Given the description of an element on the screen output the (x, y) to click on. 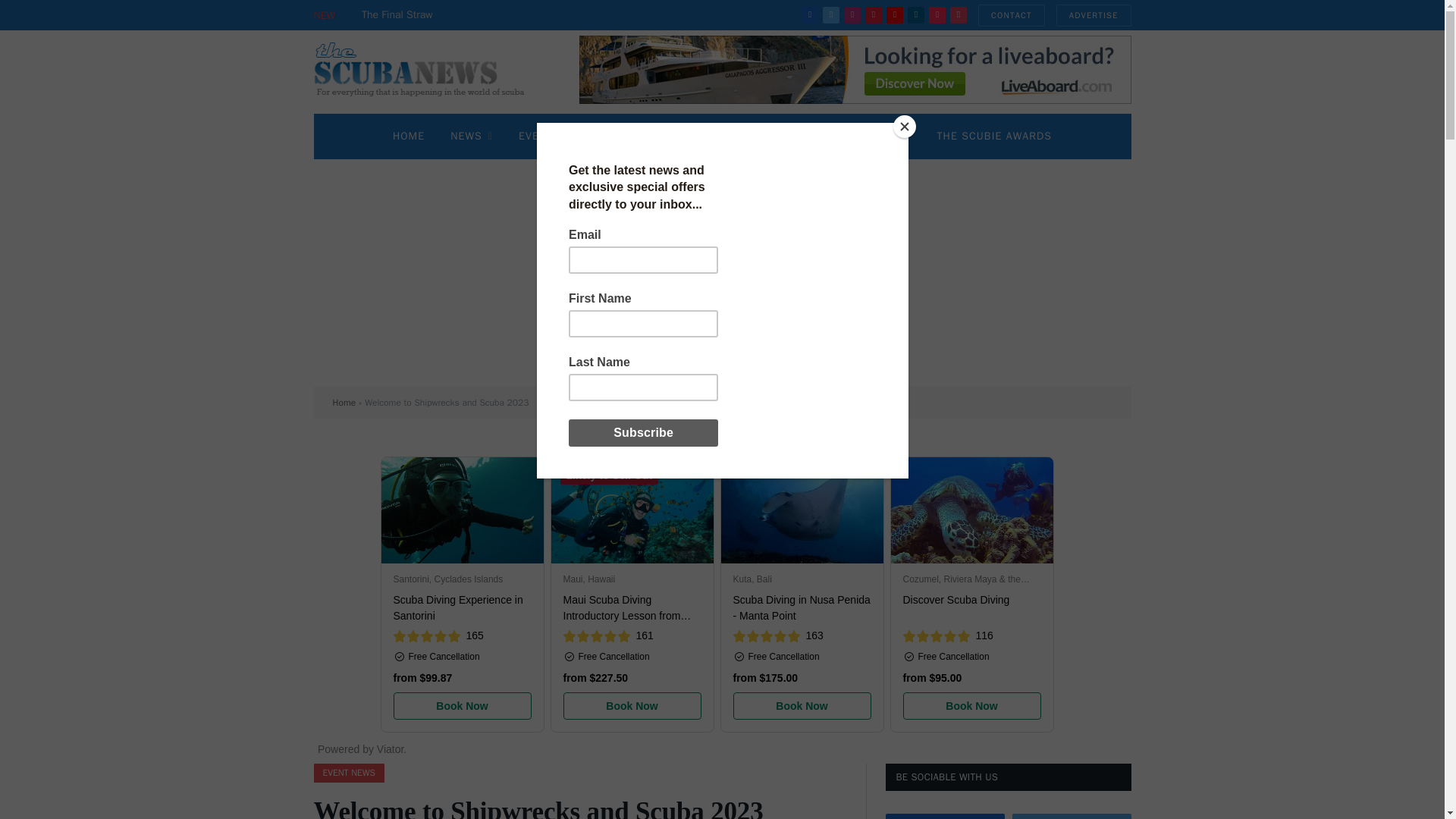
CONTACT (1011, 15)
Pinterest (873, 14)
Threads (958, 14)
The Final Straw (400, 15)
YouTube (894, 14)
LinkedIn (915, 14)
ADVERTISE (1094, 15)
TikTok (936, 14)
The Scuba News (427, 71)
Facebook (810, 14)
Instagram (852, 14)
NEWS (471, 135)
HOME (409, 135)
